Given the description of an element on the screen output the (x, y) to click on. 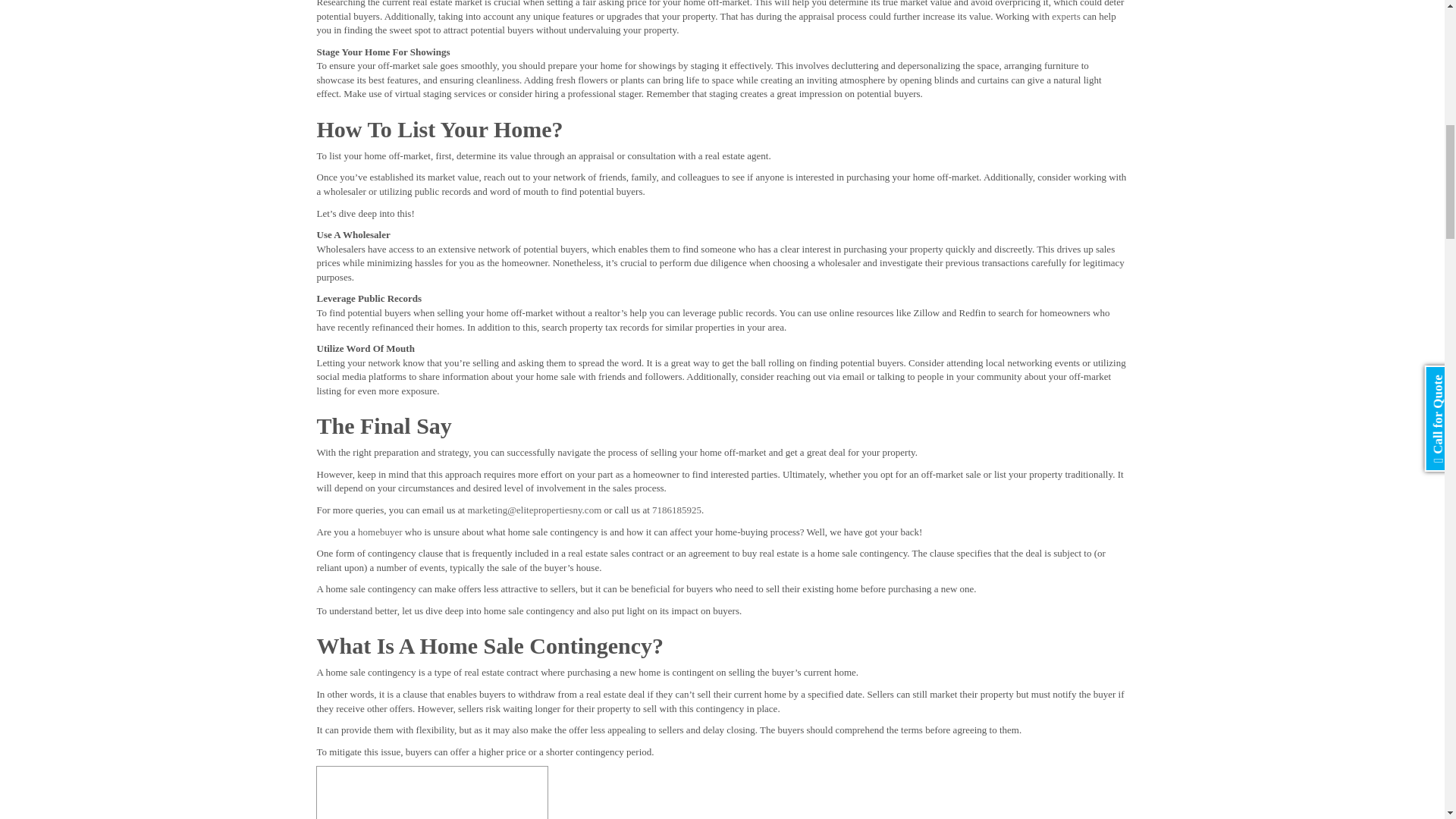
7186185925 (676, 509)
experts (1065, 16)
homebuyer (379, 531)
